Given the description of an element on the screen output the (x, y) to click on. 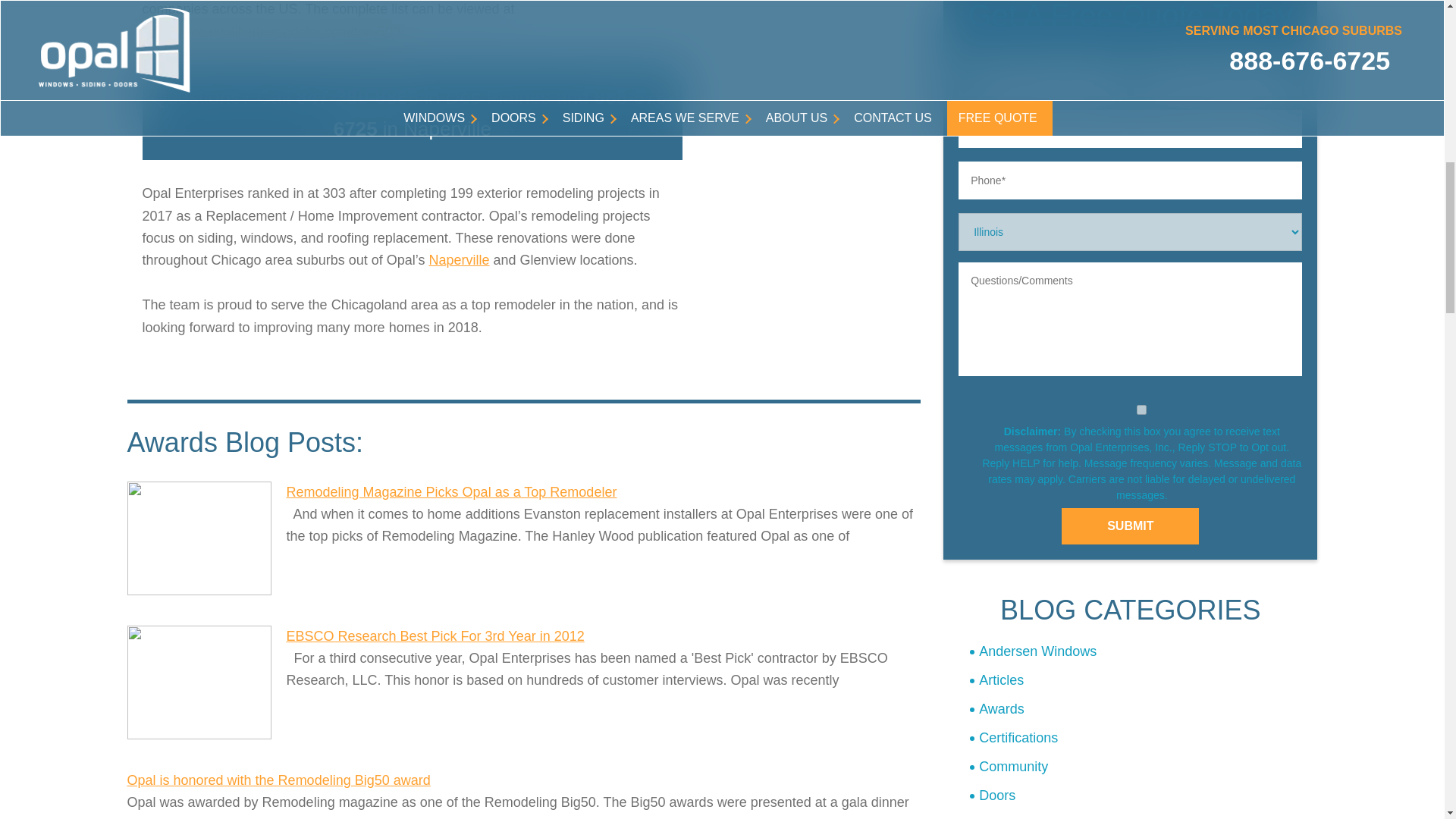
Certifications (1144, 737)
Community (1144, 766)
Events (1144, 814)
Doors (1144, 795)
1 (1142, 409)
Andersen Windows (1144, 651)
EBSCO Research Best Pick For 3rd Year in 2012 (199, 682)
Submit (1129, 525)
Awards (1144, 709)
Remodeling Magazine Picks Opal as a Top Remodeler (199, 538)
Articles (1144, 680)
